Given the description of an element on the screen output the (x, y) to click on. 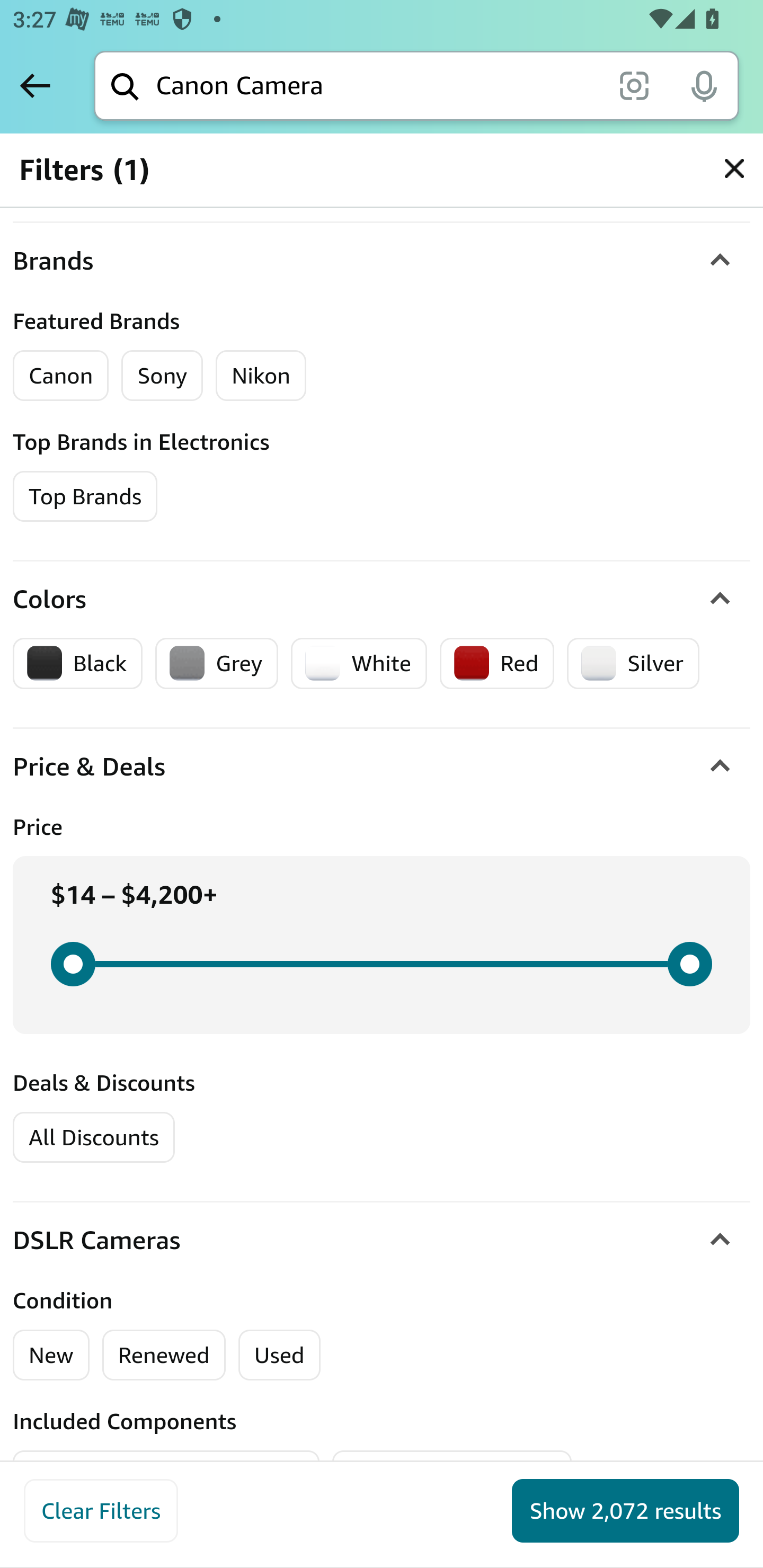
Back (35, 85)
scan it (633, 85)
Brands (381, 261)
Canon (60, 375)
Sony (161, 375)
Nikon (260, 375)
Top Brands (85, 496)
Colors (381, 599)
Black Black Black Black (77, 662)
Grey Grey Grey Grey (217, 662)
White White White White (358, 662)
Red Red Red Red (496, 662)
Silver Silver Silver Silver (632, 662)
Price & Deals (381, 766)
Mute Sponsored Video (721, 769)
All Discounts (93, 1136)
DSLR Cameras (381, 1240)
New (51, 1354)
Renewed (163, 1354)
Used (278, 1354)
Clear Filters (100, 1510)
Show 2,072 results (625, 1510)
